Given the description of an element on the screen output the (x, y) to click on. 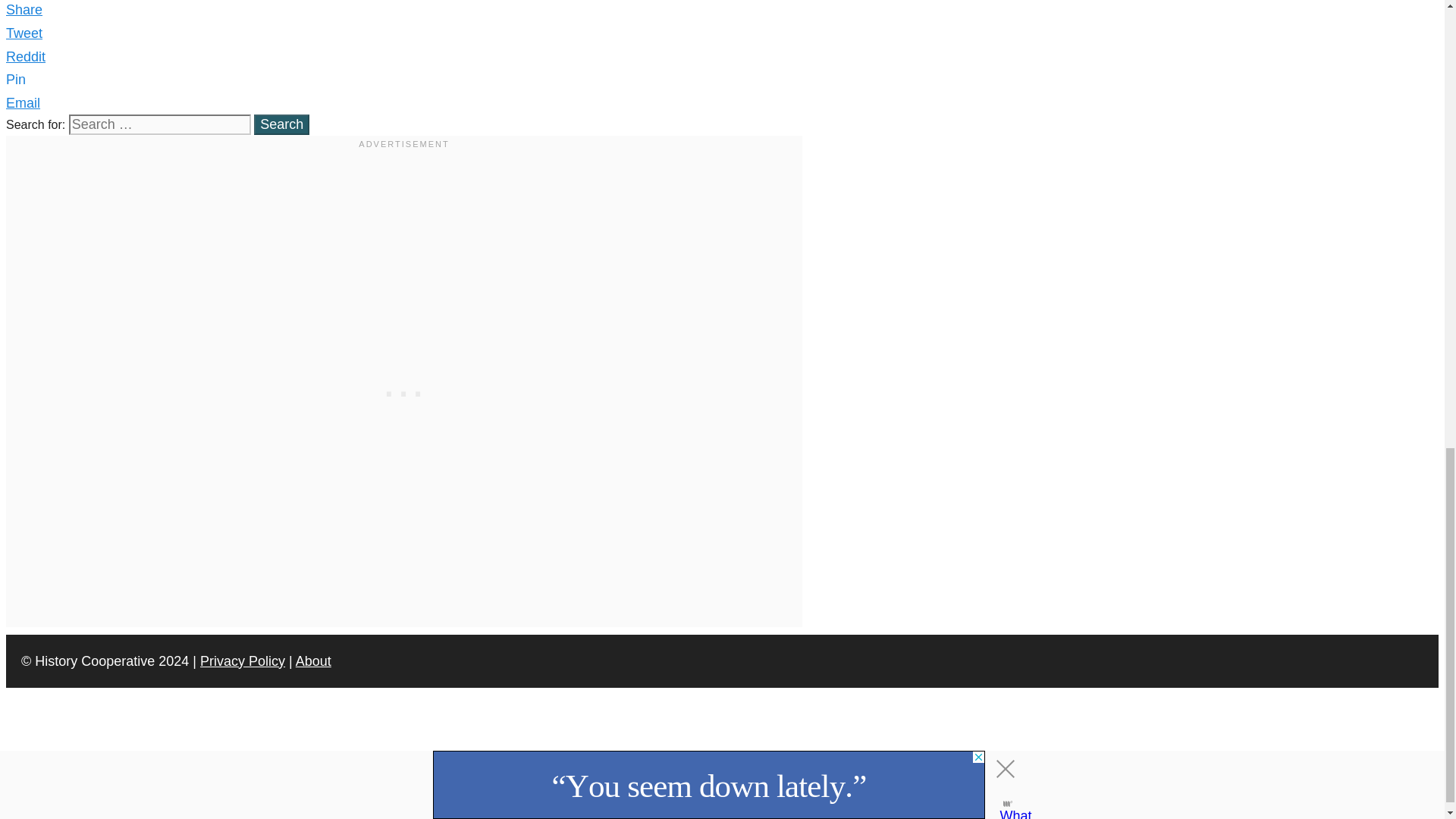
Email (22, 102)
Search for: (159, 124)
Pin (15, 79)
Share (23, 9)
Reddit (25, 56)
Tweet (23, 32)
Search (280, 124)
Search (280, 124)
